Given the description of an element on the screen output the (x, y) to click on. 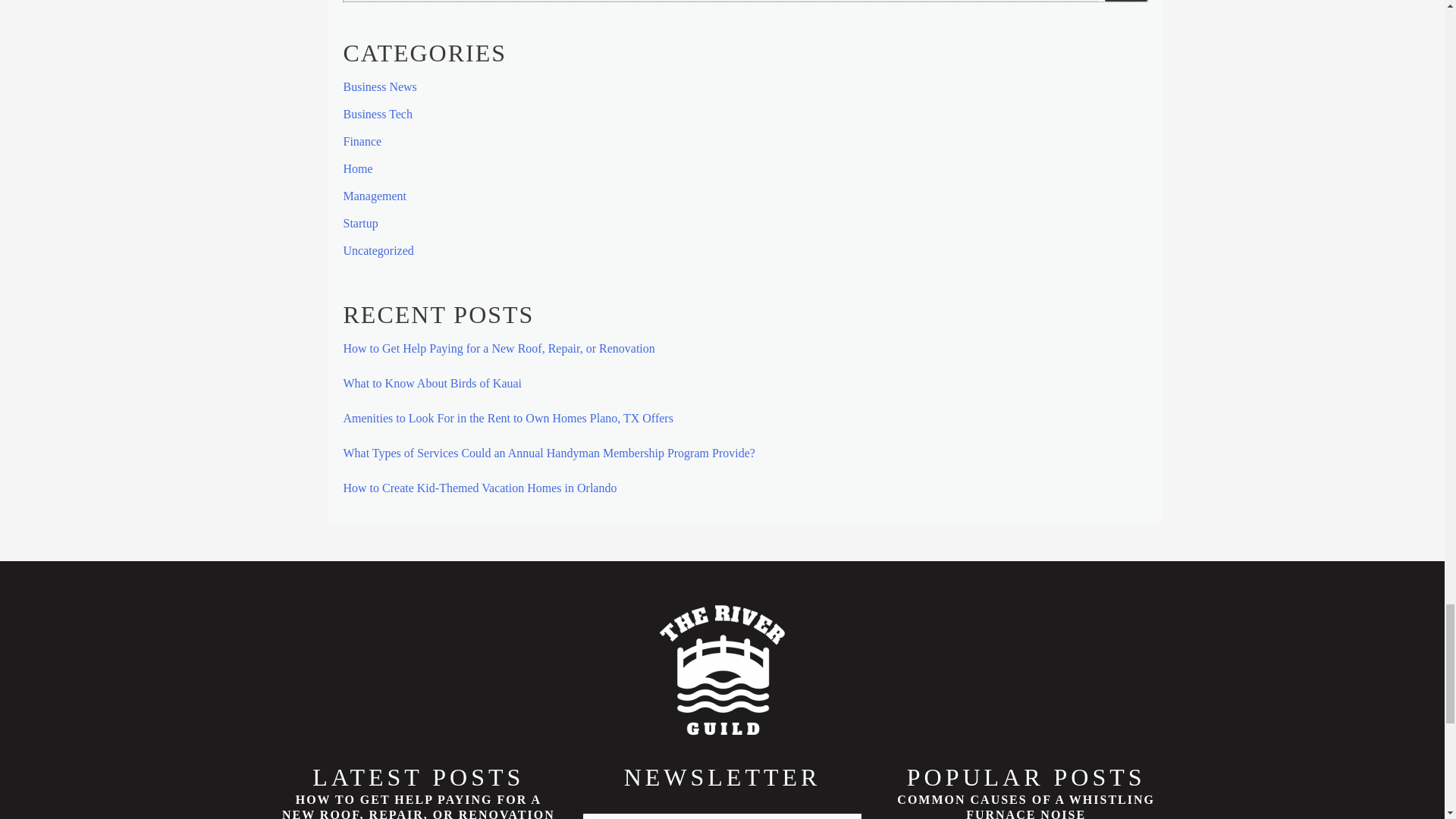
Business Tech (377, 113)
Business News (379, 86)
Startup (359, 223)
Management (374, 195)
Finance (361, 141)
Home (357, 168)
